Given the description of an element on the screen output the (x, y) to click on. 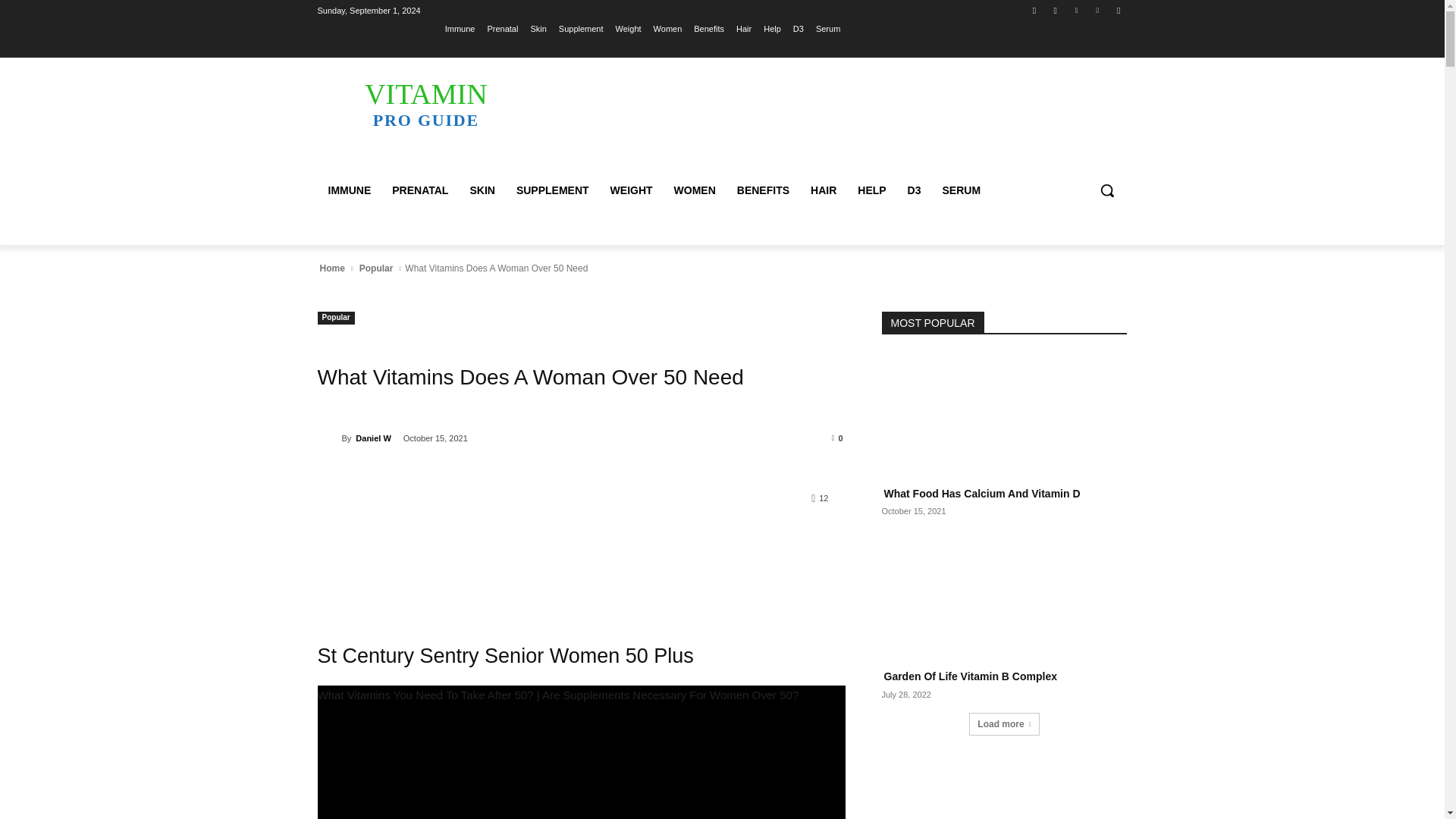
IMMUNE (349, 189)
Serum (827, 28)
View all posts in Popular (376, 268)
Weight (628, 28)
Prenatal (502, 28)
Instagram (1055, 9)
Supplement (581, 28)
Facebook (1034, 9)
Immune (460, 28)
Vimeo (1097, 9)
